Given the description of an element on the screen output the (x, y) to click on. 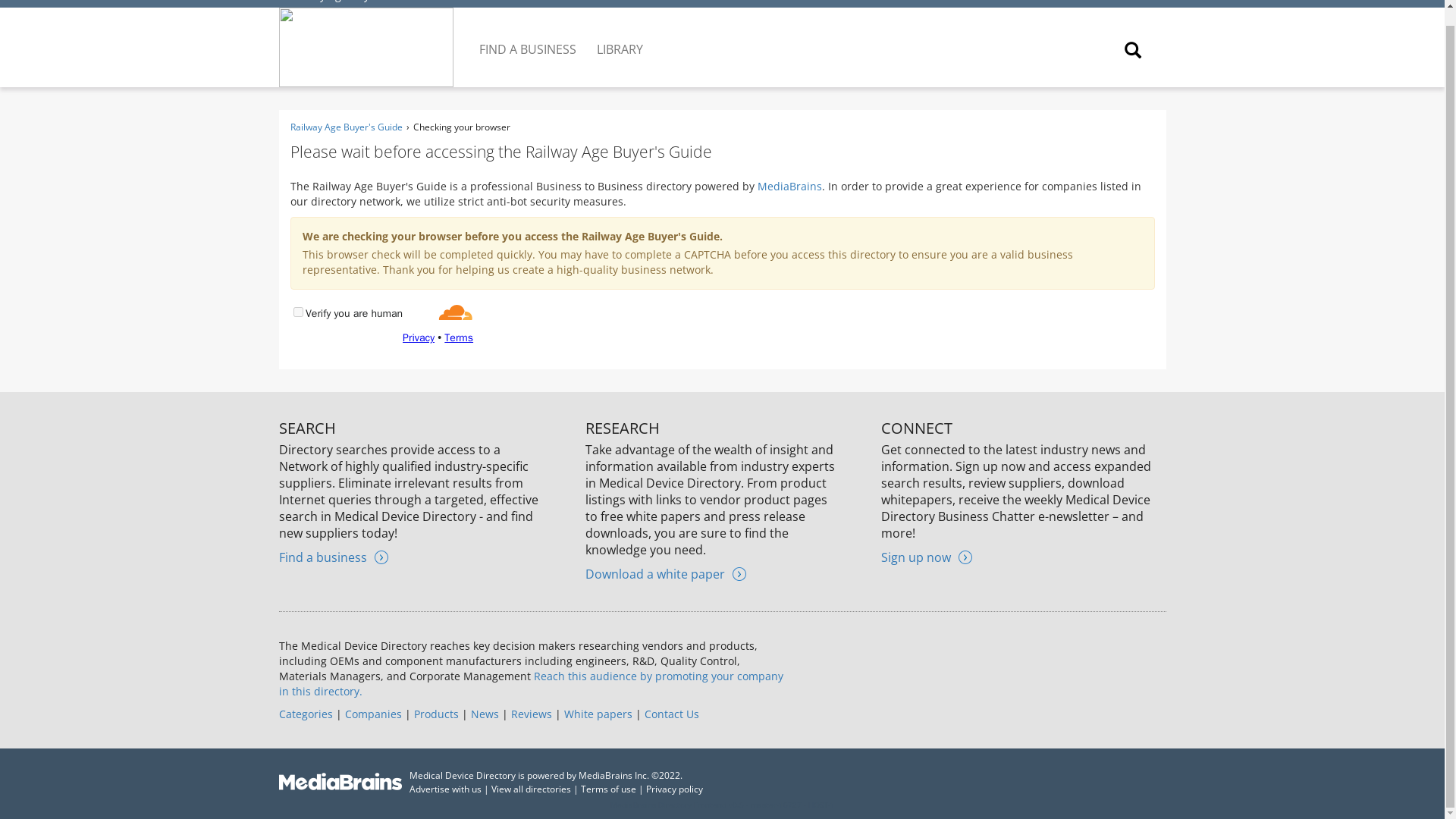
Find a business (333, 556)
White papers (597, 713)
Privacy policy (674, 788)
Railway Age Buyer's Guide (353, 1)
Advertise with us (445, 788)
Companies (372, 713)
View all directories (531, 788)
LIBRARY (620, 37)
MediaBrains (789, 186)
Contact Us (671, 713)
Download a white paper (665, 573)
Sign up now (926, 556)
Categories (306, 713)
Products (435, 713)
